Given the description of an element on the screen output the (x, y) to click on. 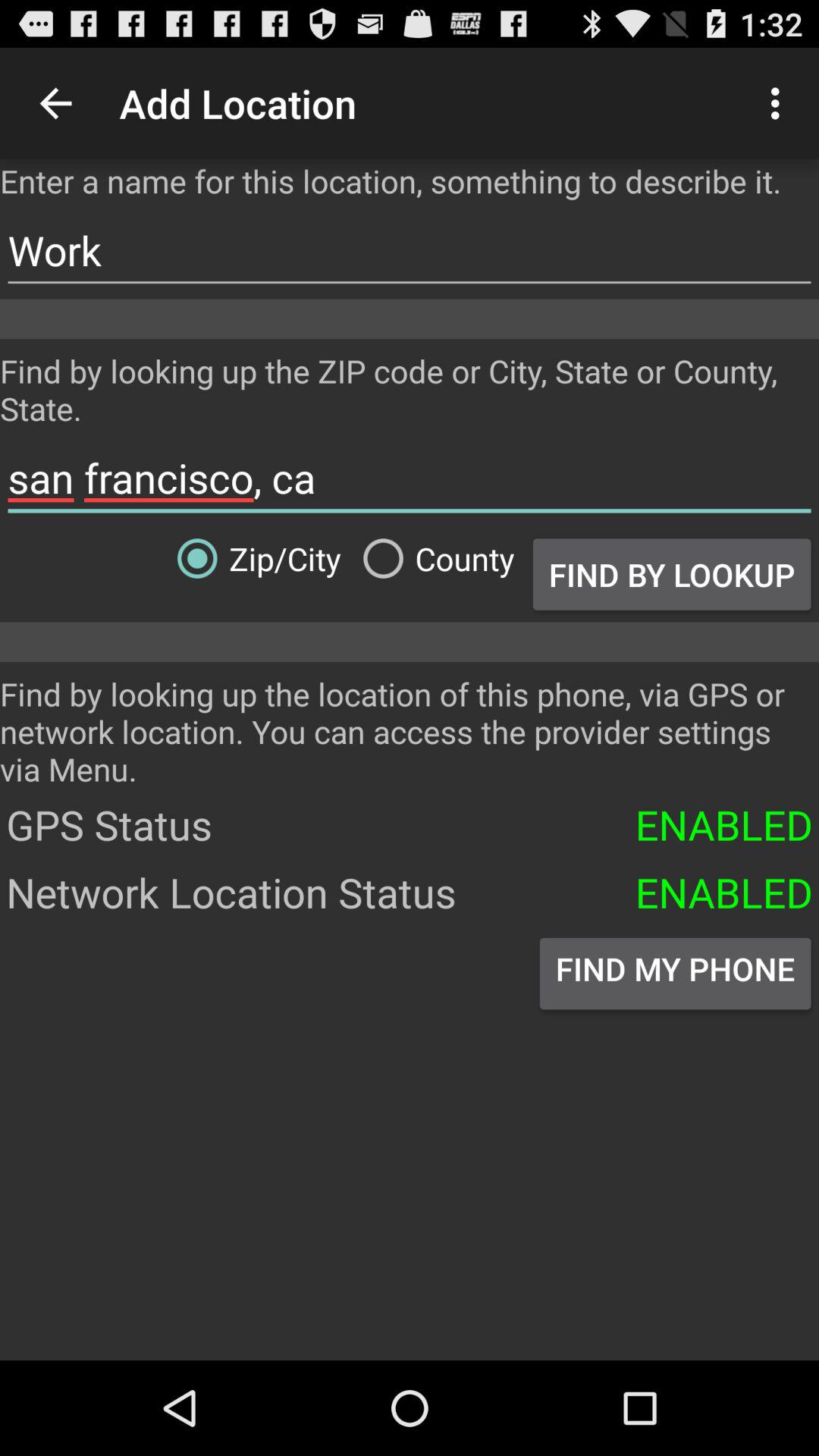
flip to work (409, 250)
